Given the description of an element on the screen output the (x, y) to click on. 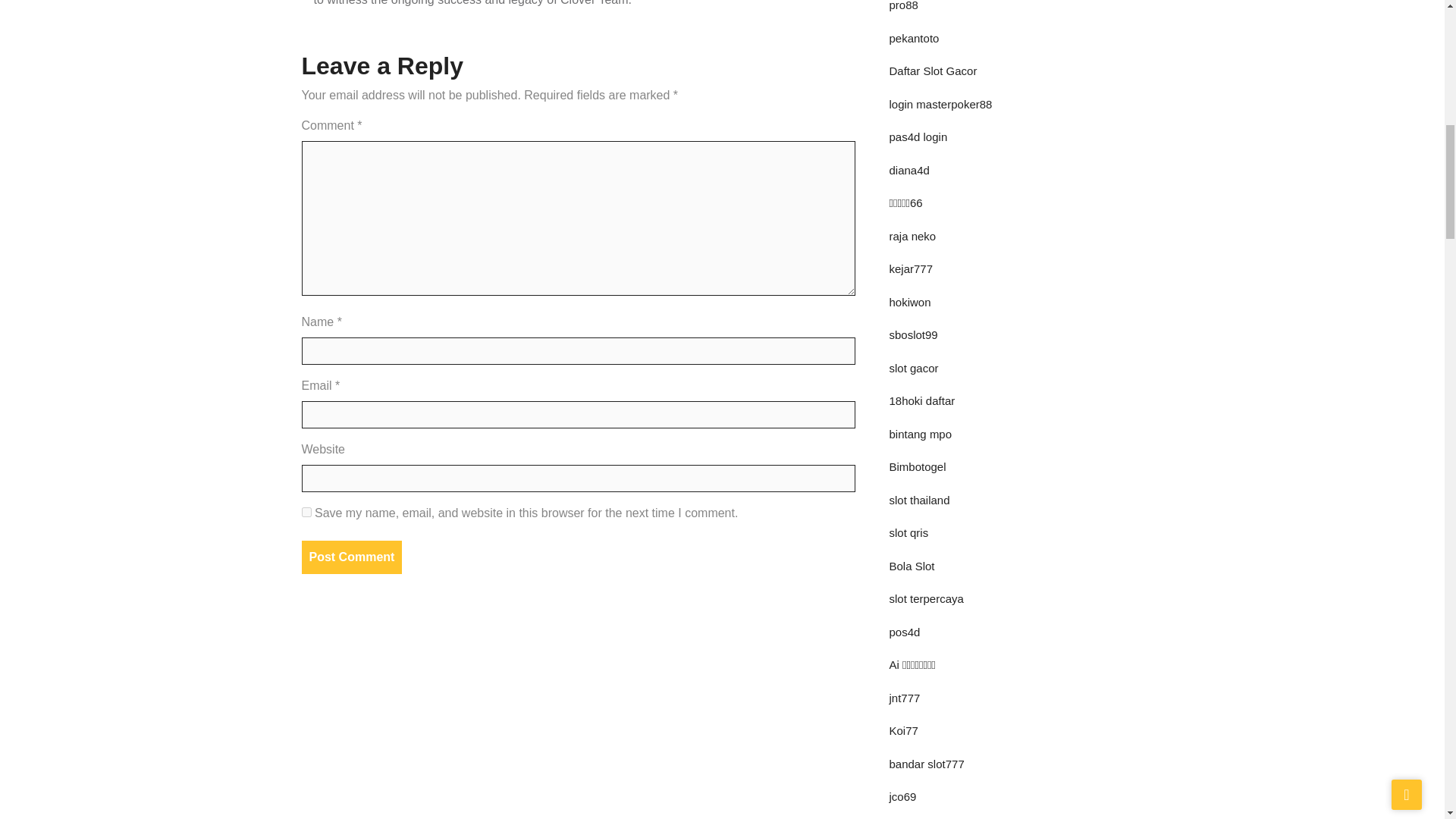
sboslot99 (912, 334)
pro88 (902, 5)
yes (306, 511)
Post Comment (352, 557)
diana4d (908, 169)
Post Comment (352, 557)
pas4d login (917, 136)
login masterpoker88 (939, 103)
raja neko (912, 235)
Daftar Slot Gacor (932, 70)
